Given the description of an element on the screen output the (x, y) to click on. 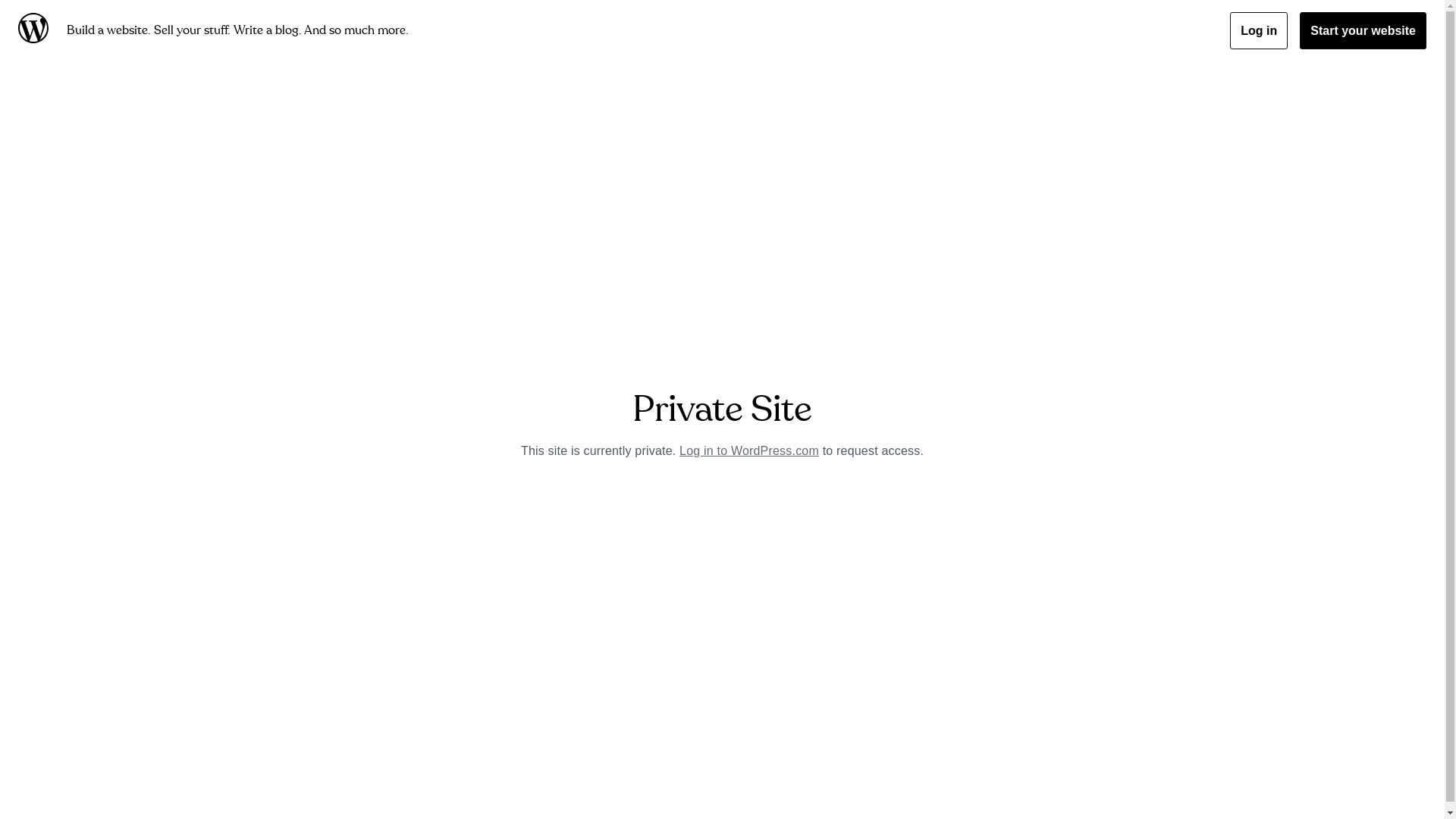
Log in to WordPress.com Element type: text (749, 450)
Log in Element type: text (1258, 30)
Start your website Element type: text (1362, 30)
WordPress.com Element type: text (36, 30)
